Given the description of an element on the screen output the (x, y) to click on. 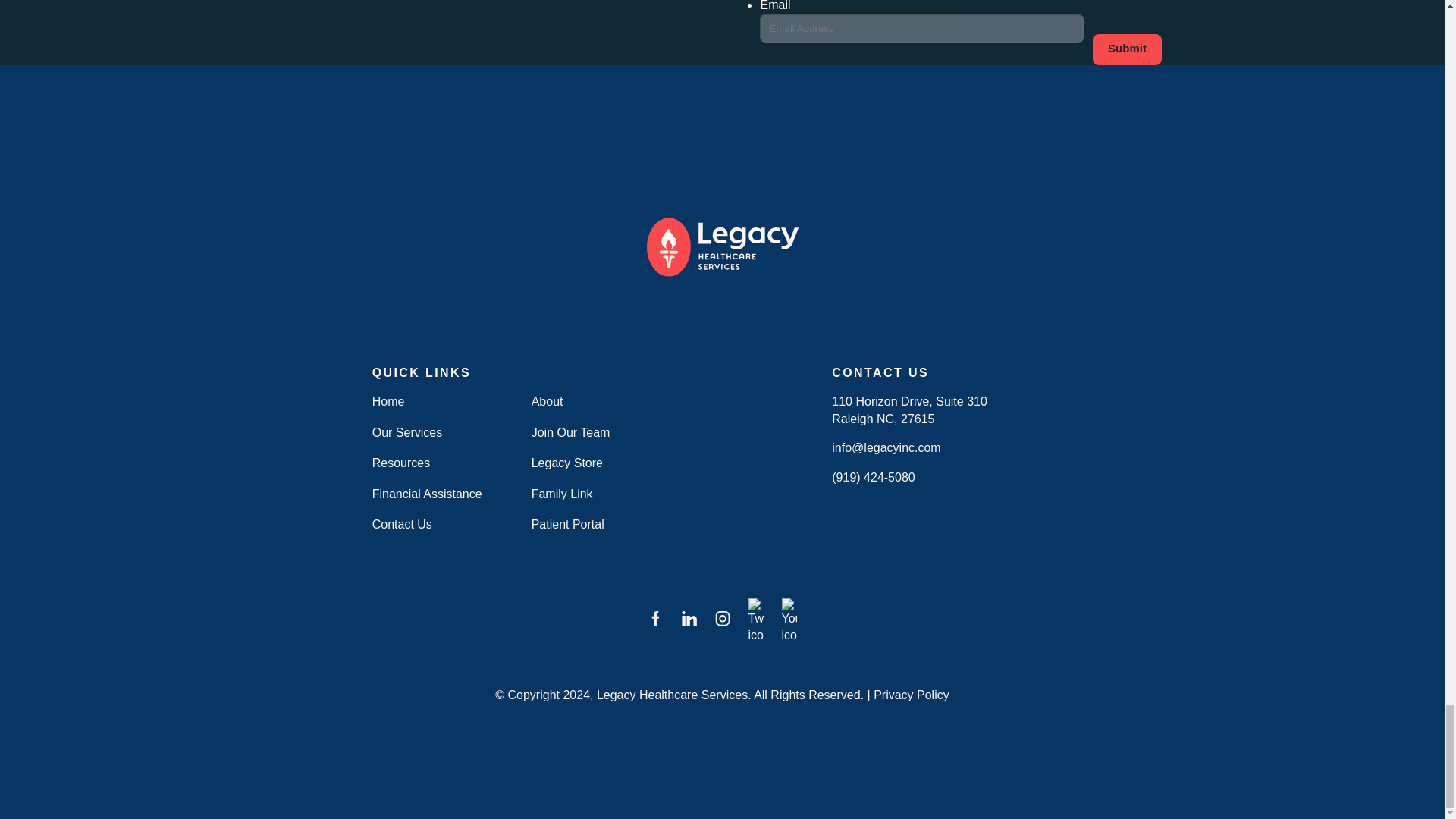
Submit (1127, 49)
